Given the description of an element on the screen output the (x, y) to click on. 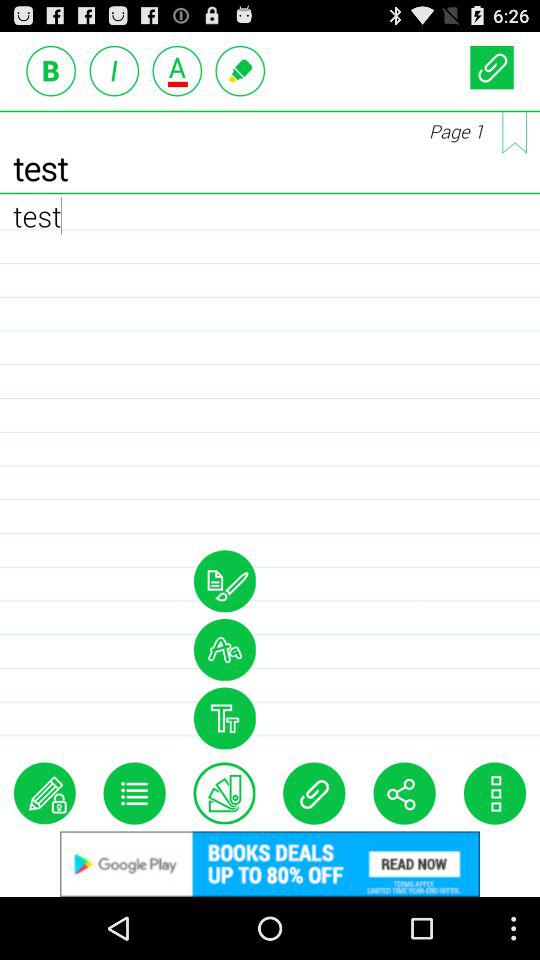
select the write text option (44, 793)
